Given the description of an element on the screen output the (x, y) to click on. 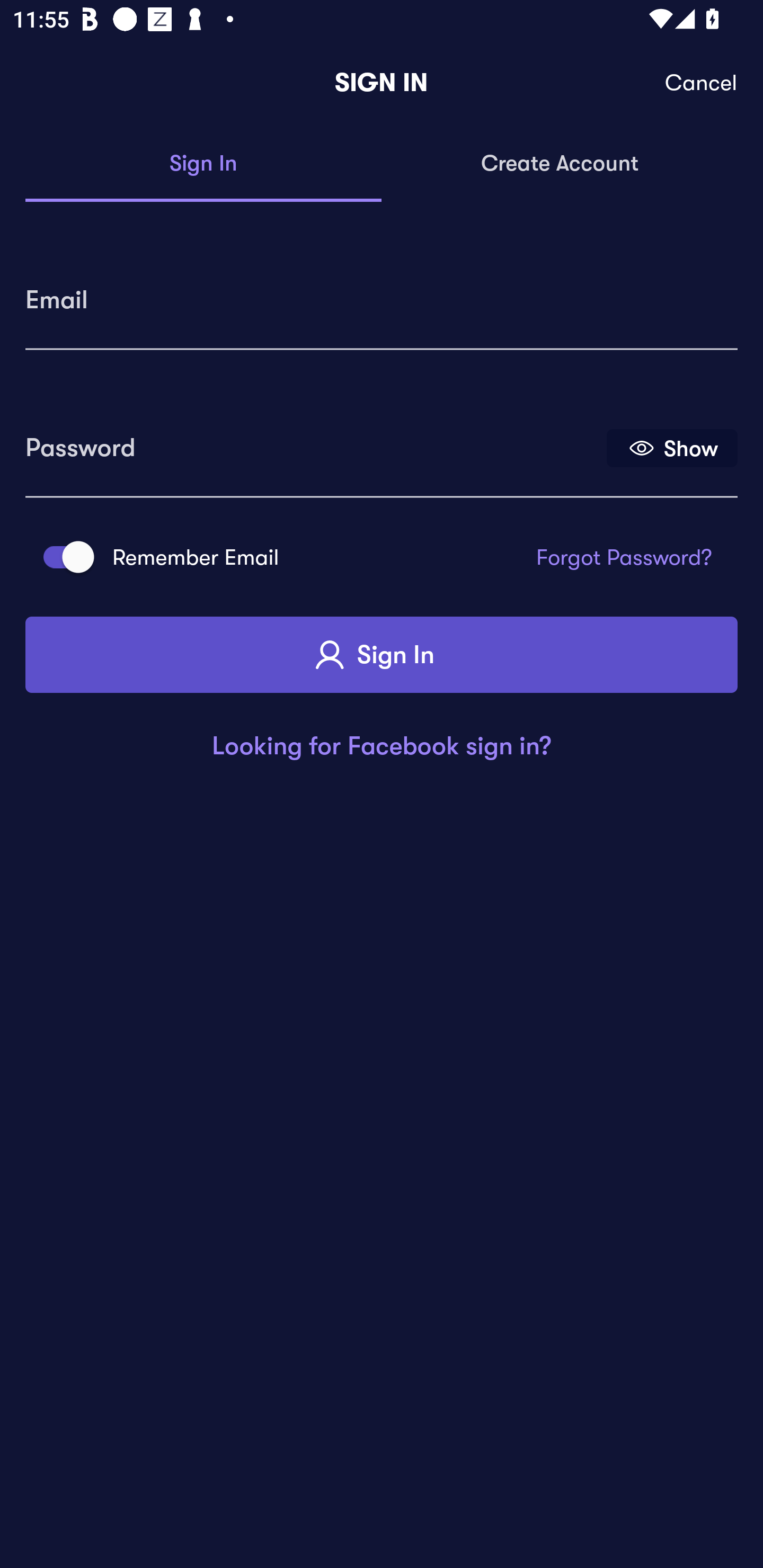
Cancel (701, 82)
Sign In (203, 164)
Create Account (559, 164)
Email (381, 293)
Password (314, 441)
Show Password Show (671, 447)
Remember Email (62, 557)
Sign In (381, 654)
